Given the description of an element on the screen output the (x, y) to click on. 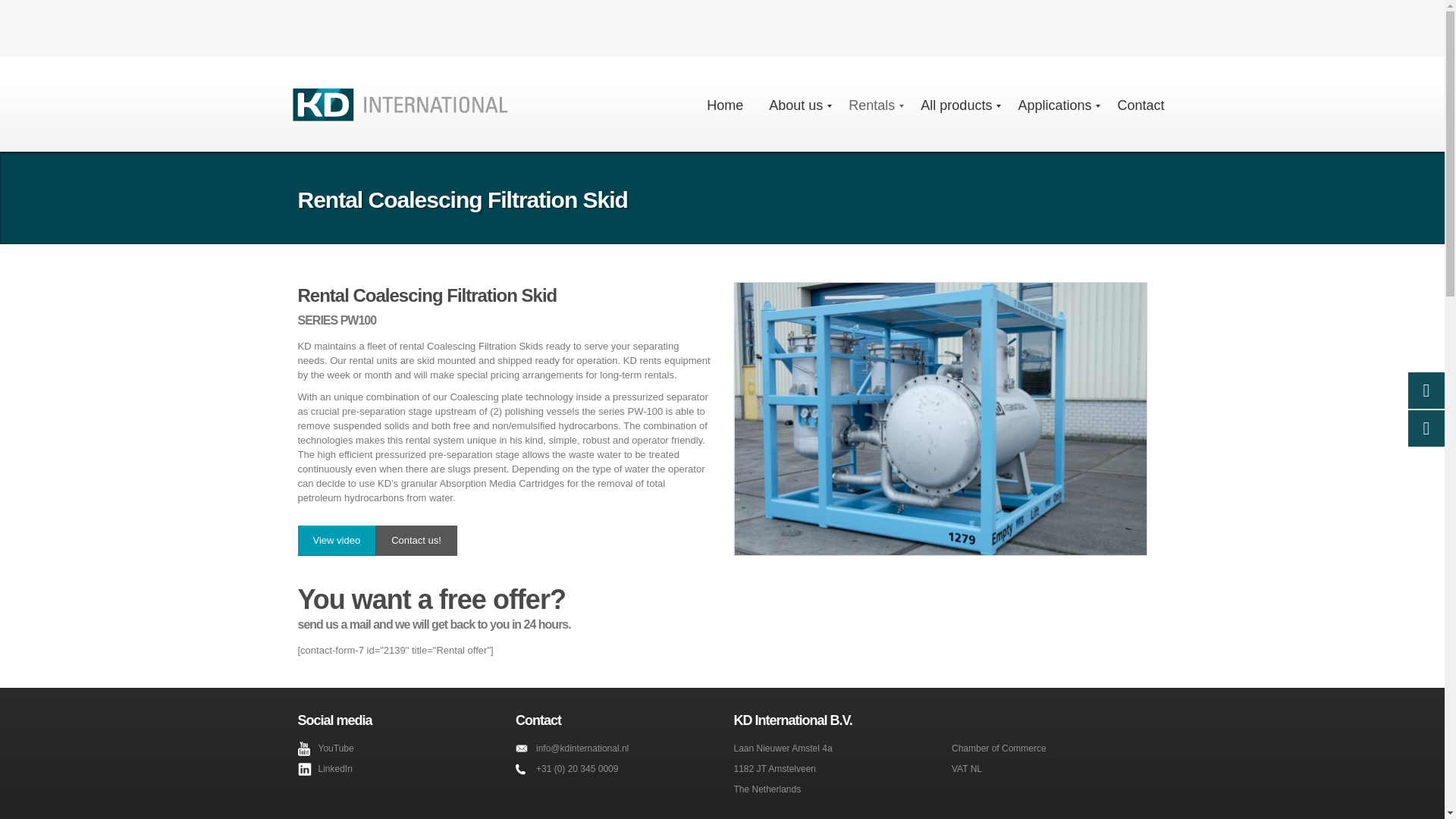
All products (955, 105)
About us (795, 105)
Home (724, 105)
Rentals (871, 105)
